Given the description of an element on the screen output the (x, y) to click on. 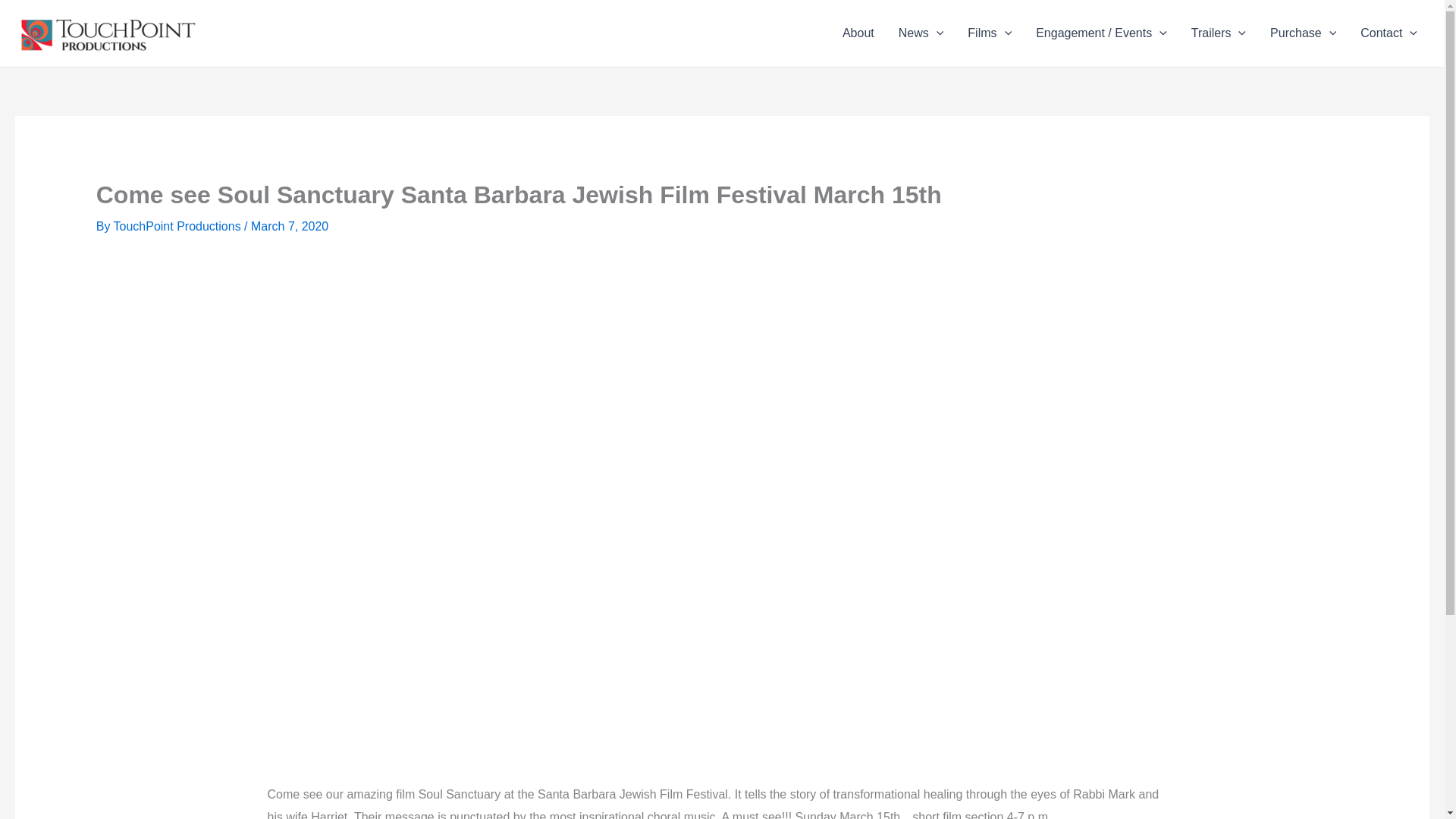
News (921, 33)
Films (989, 33)
Purchase (1302, 33)
About (857, 33)
Trailers (1218, 33)
View all posts by TouchPoint Productions (178, 226)
